Given the description of an element on the screen output the (x, y) to click on. 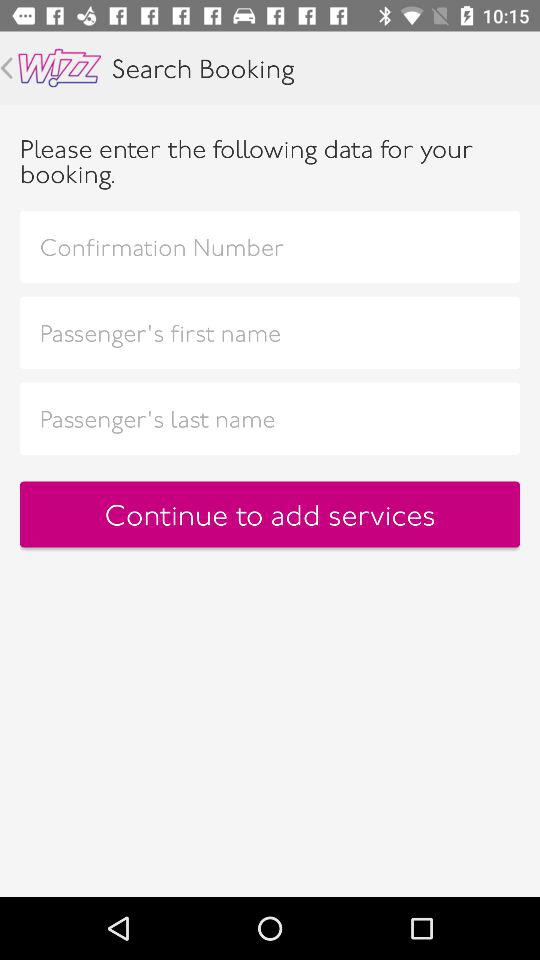
go home (59, 68)
